Given the description of an element on the screen output the (x, y) to click on. 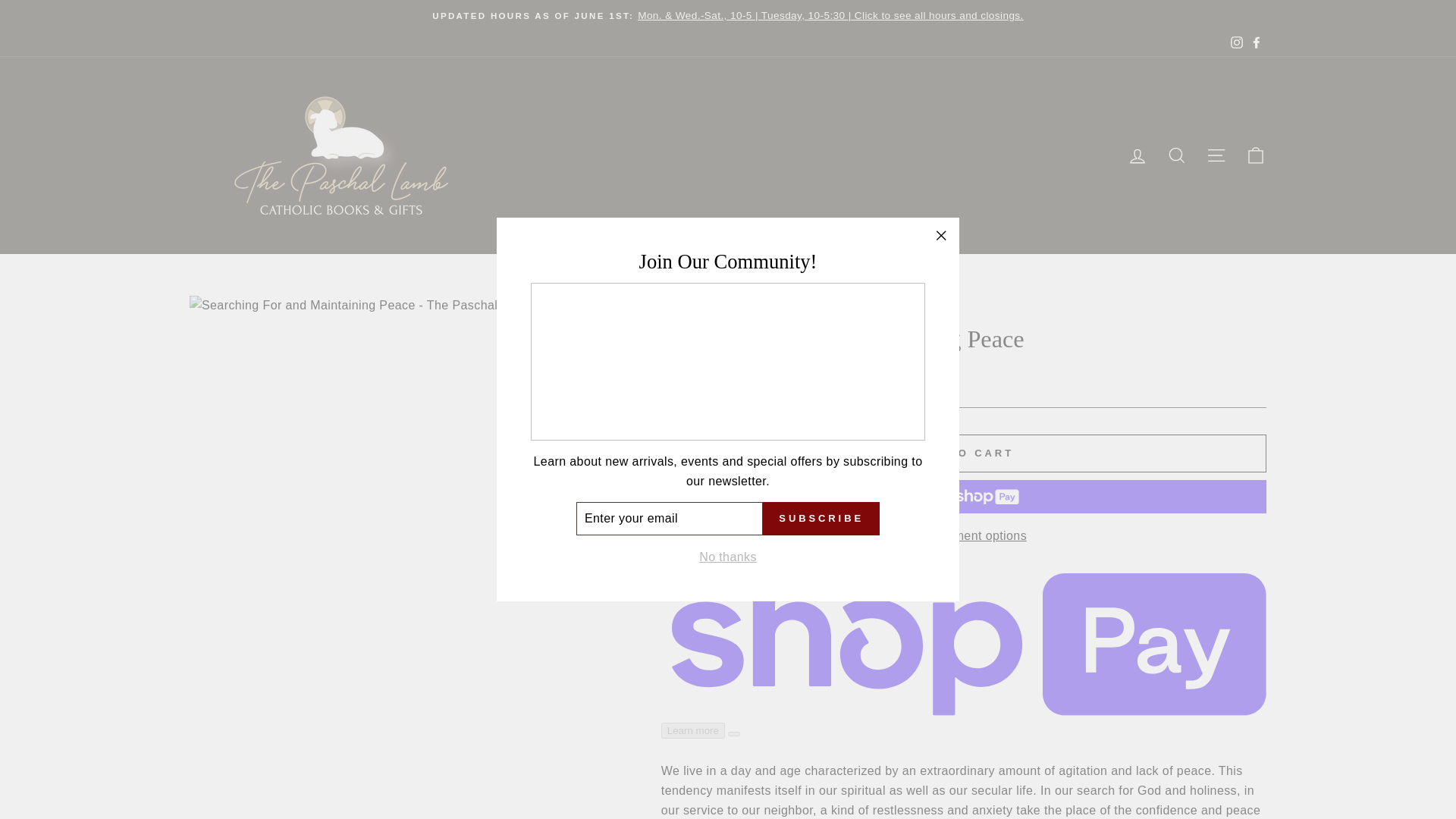
More payment options (963, 536)
ADD TO CART (963, 453)
SEARCH (1176, 154)
SITE NAVIGATION (1216, 154)
LOG IN (1137, 154)
CART (1255, 154)
Home (675, 310)
Back to the frontpage (675, 310)
